Given the description of an element on the screen output the (x, y) to click on. 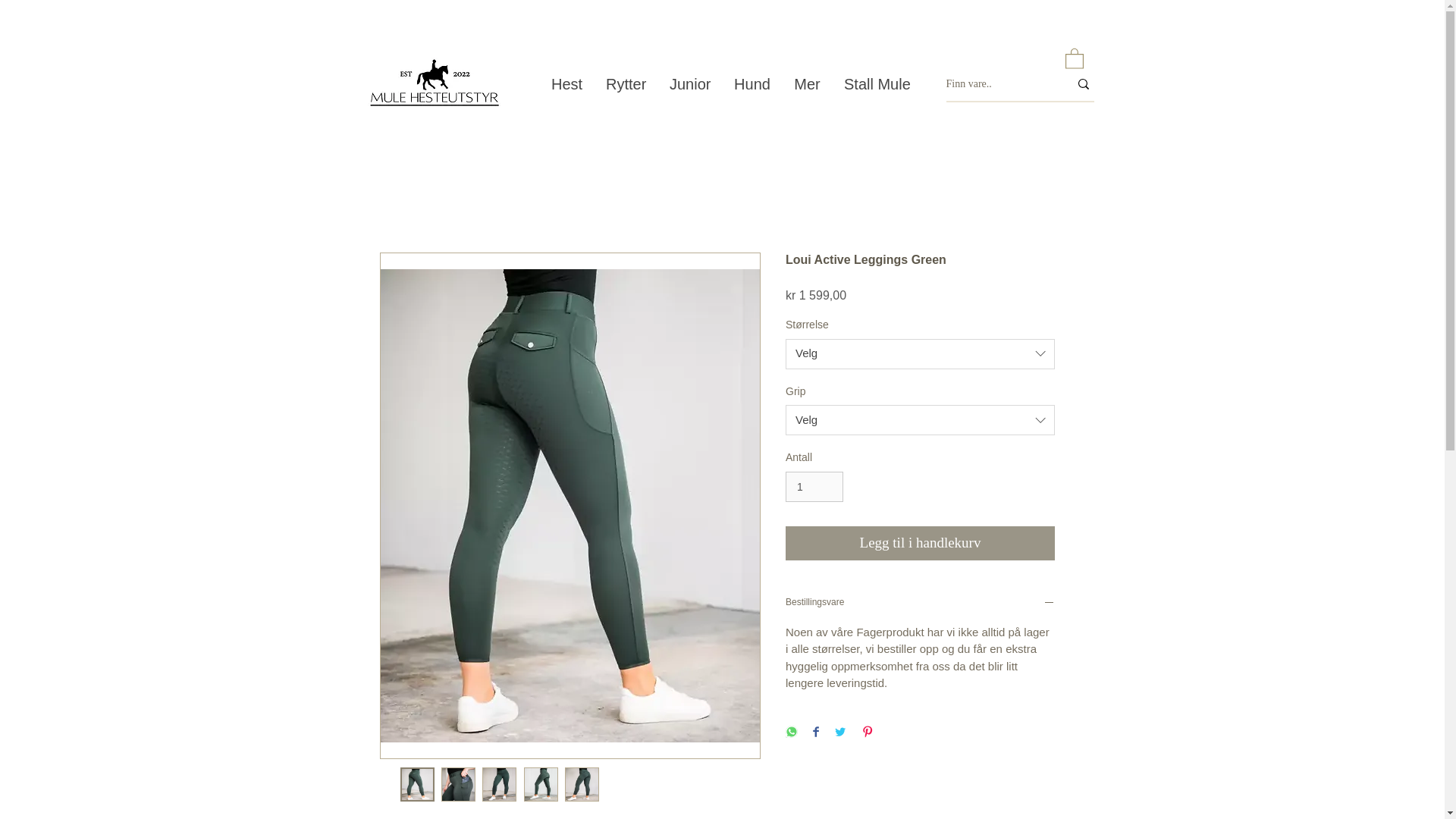
Rytter (626, 84)
1 (814, 486)
Hest (566, 84)
Junior (690, 84)
